Given the description of an element on the screen output the (x, y) to click on. 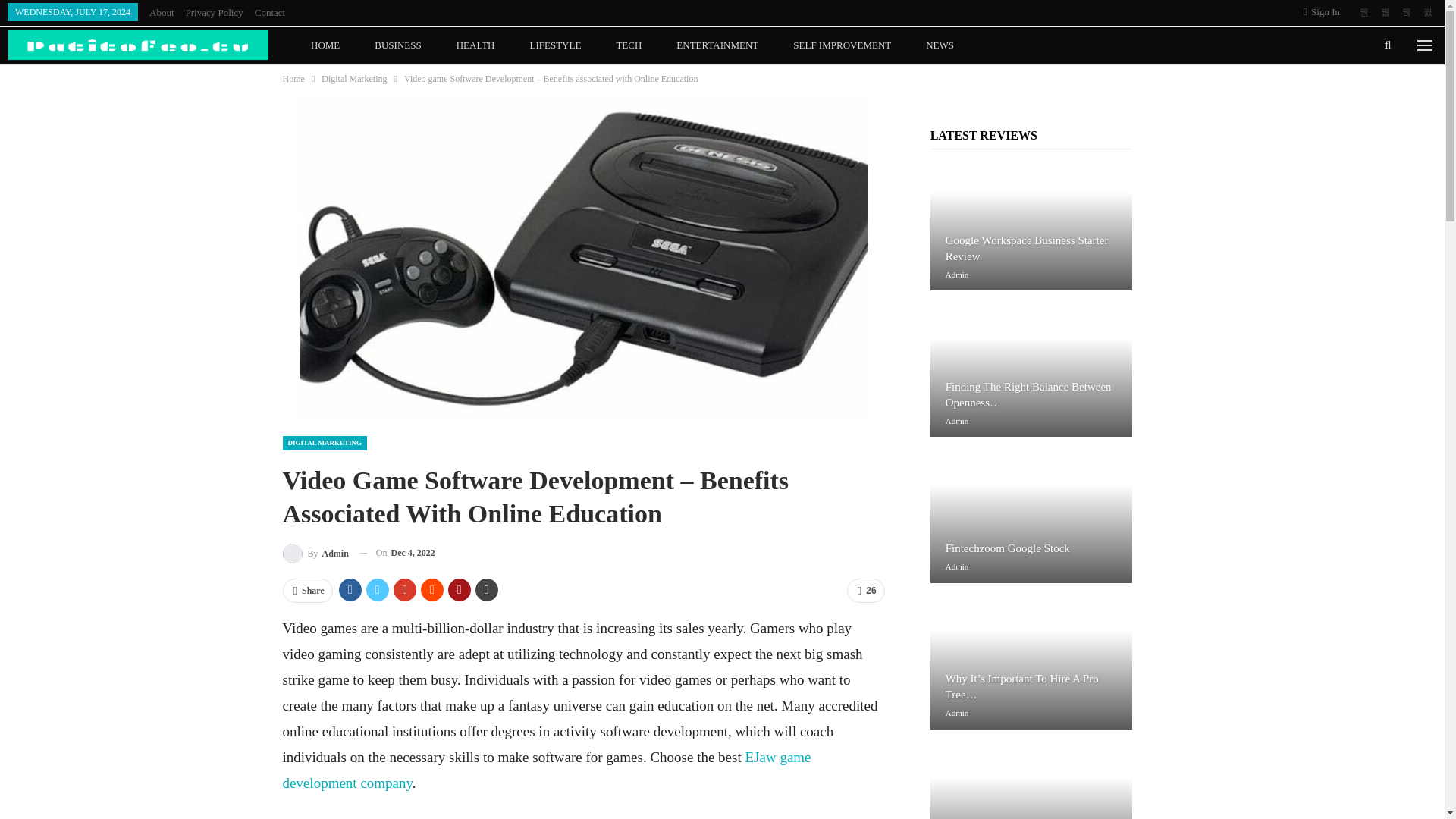
Browse Author Articles (314, 552)
